Given the description of an element on the screen output the (x, y) to click on. 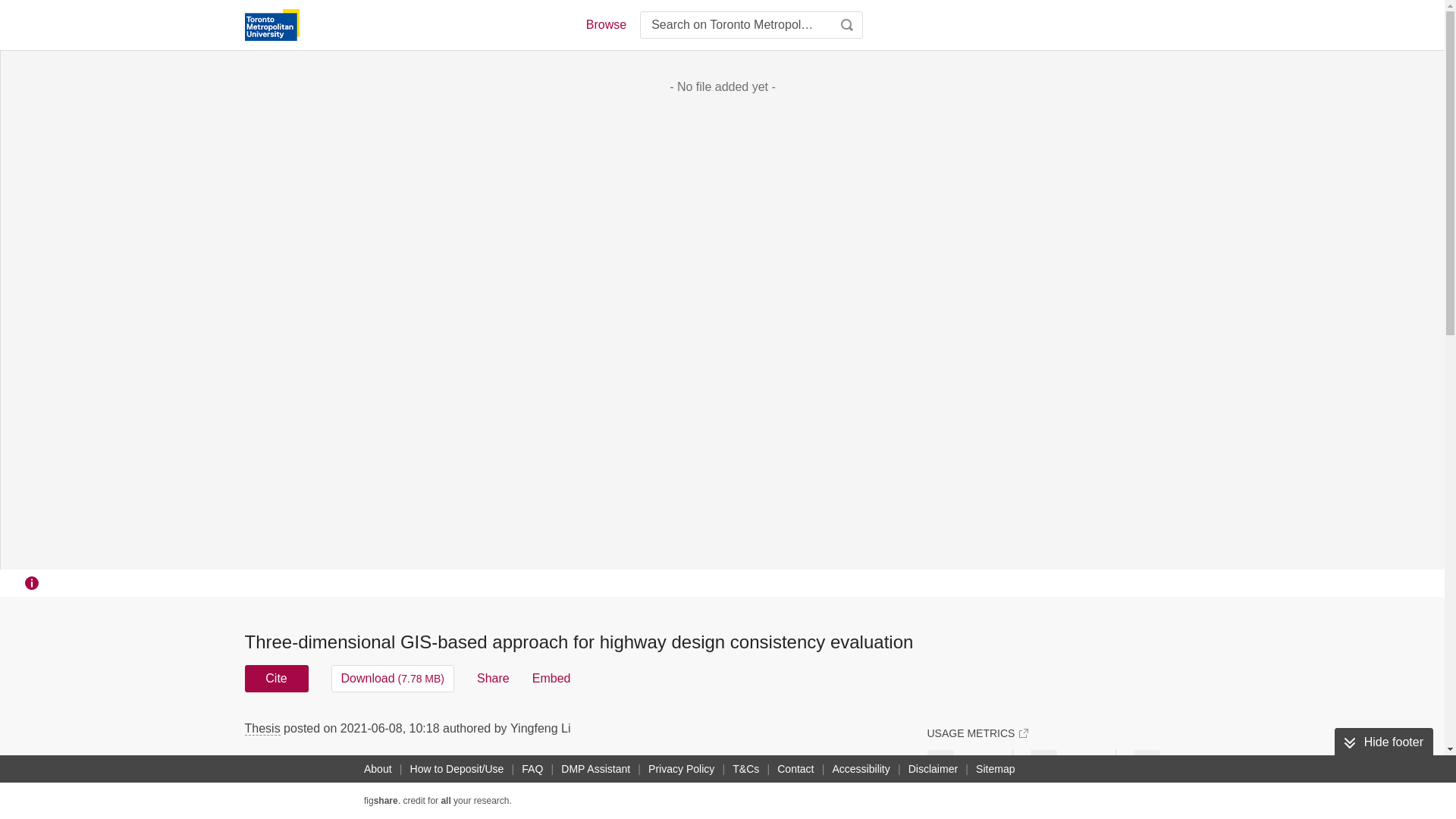
Contact (795, 769)
Accessibility (861, 769)
Cite (275, 678)
Share (493, 678)
Privacy Policy (681, 769)
Hide footer (1383, 742)
Browse (605, 24)
Sitemap (995, 769)
Embed (551, 678)
FAQ (531, 769)
